Given the description of an element on the screen output the (x, y) to click on. 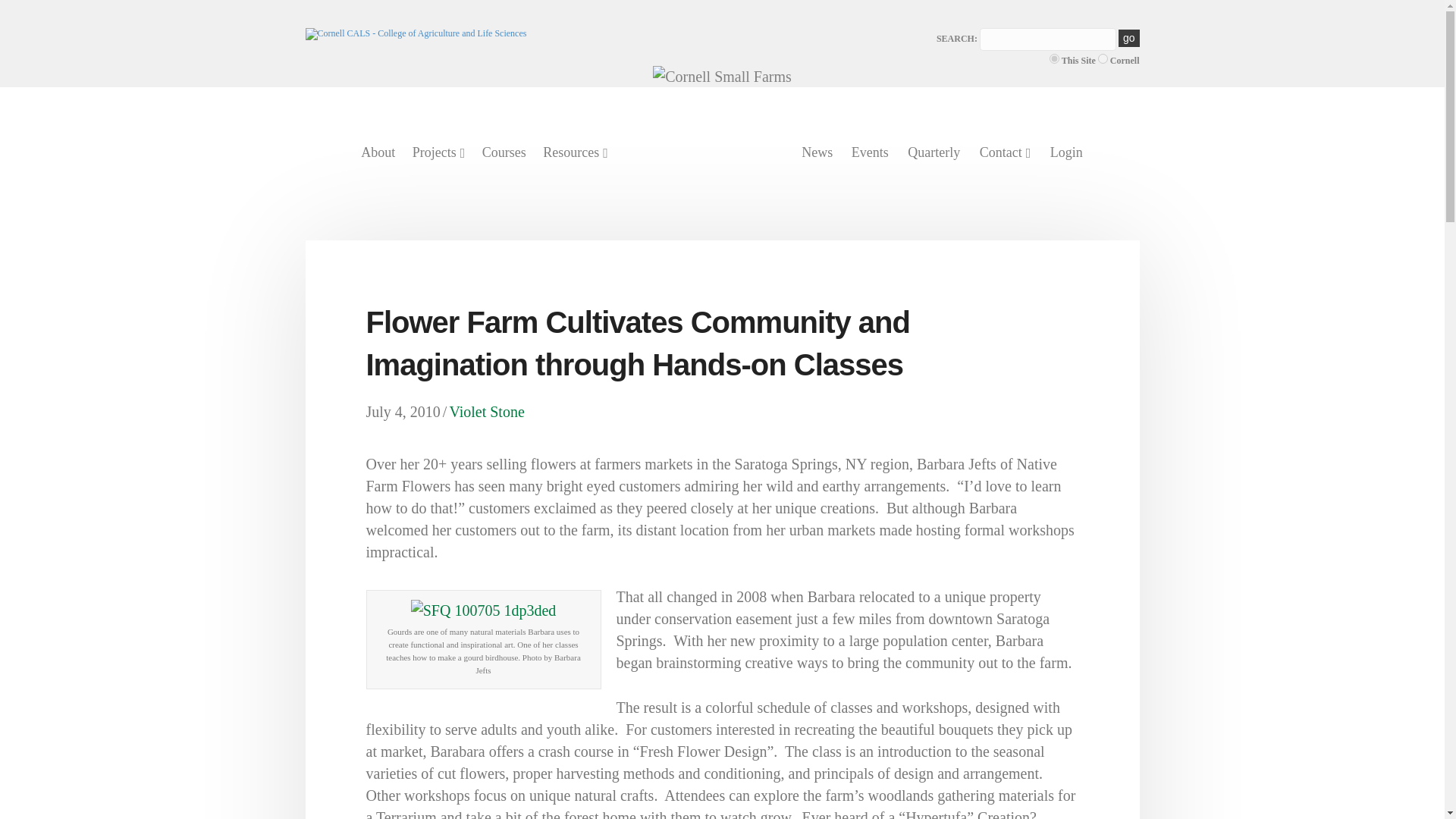
go (1129, 37)
Resources (574, 152)
go (1129, 37)
Events (869, 152)
Contact (1005, 152)
cornell (1102, 58)
SFQ 100705 (483, 610)
About (377, 152)
Login (1066, 152)
Quarterly (933, 152)
Projects (438, 152)
thissite (1054, 58)
News (817, 152)
Violet Stone (486, 411)
Courses (504, 152)
